Given the description of an element on the screen output the (x, y) to click on. 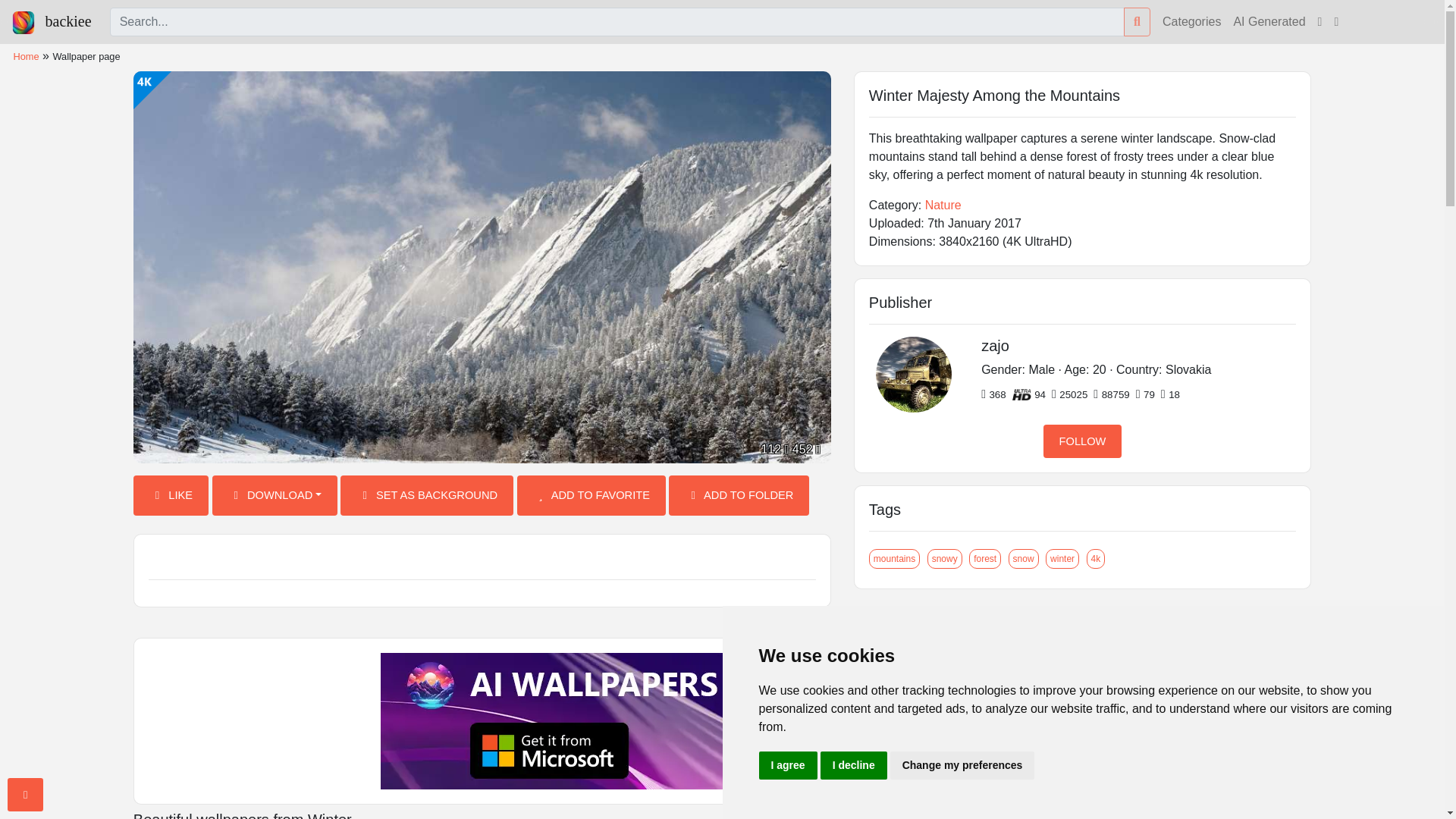
FOLLOW (1082, 441)
snow (1024, 558)
backiee (51, 21)
DOWNLOAD (274, 495)
Nature (942, 205)
AI Generated (1269, 21)
ADD TO FAVORITE (590, 495)
LIKE (170, 495)
I decline (853, 765)
forest (985, 558)
Comments (481, 557)
I agree (787, 765)
Home (26, 56)
4k (1095, 558)
winter (1061, 558)
